Given the description of an element on the screen output the (x, y) to click on. 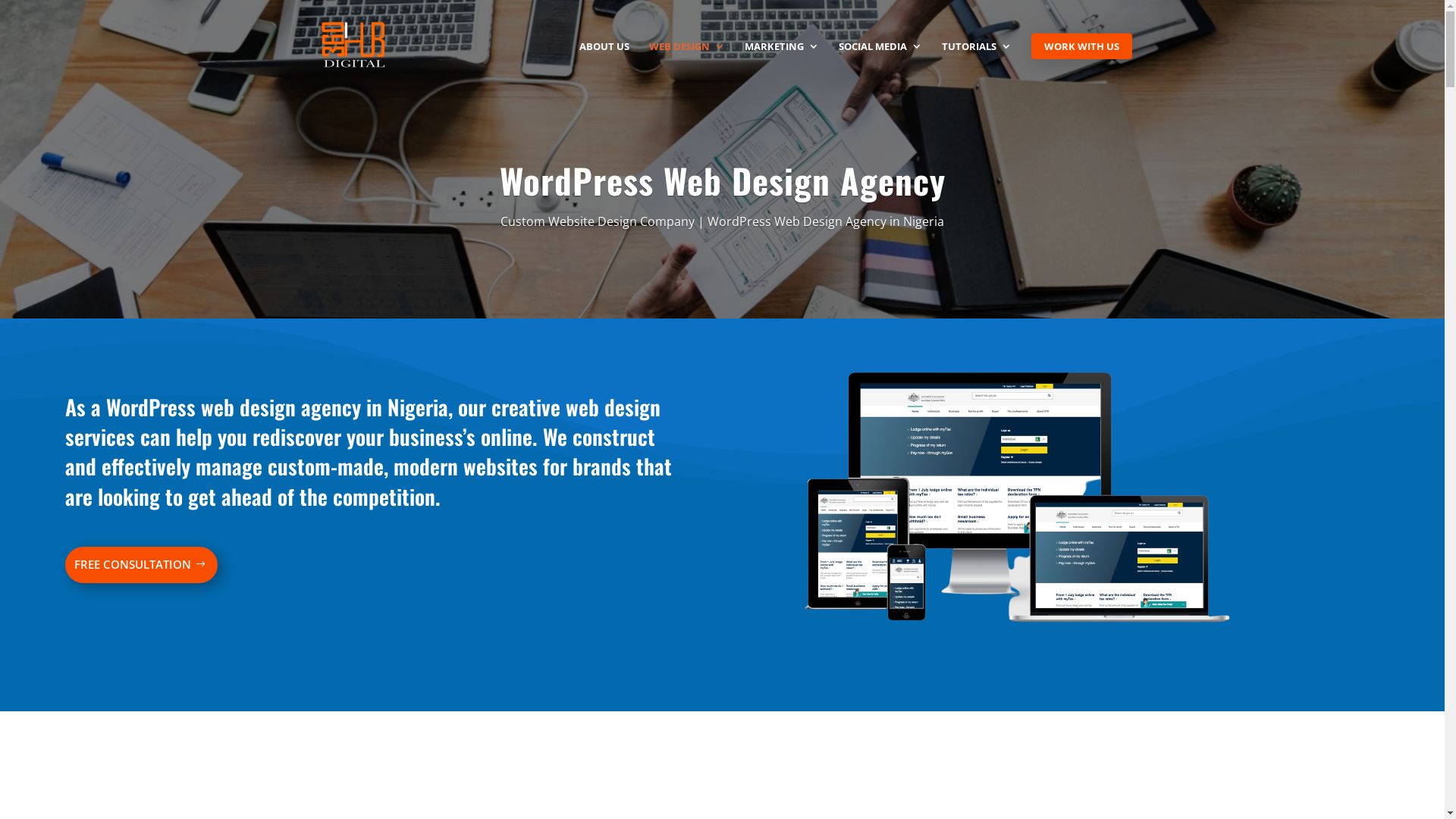
WEB DESIGN Element type: text (686, 62)
WORK WITH US Element type: text (1081, 46)
SOCIAL MEDIA Element type: text (880, 62)
FREE CONSULTATION Element type: text (141, 564)
MARKETING Element type: text (781, 62)
wordpress-web-design-samples- Element type: hover (1016, 505)
TUTORIALS Element type: text (976, 62)
ABOUT US Element type: text (604, 62)
